Given the description of an element on the screen output the (x, y) to click on. 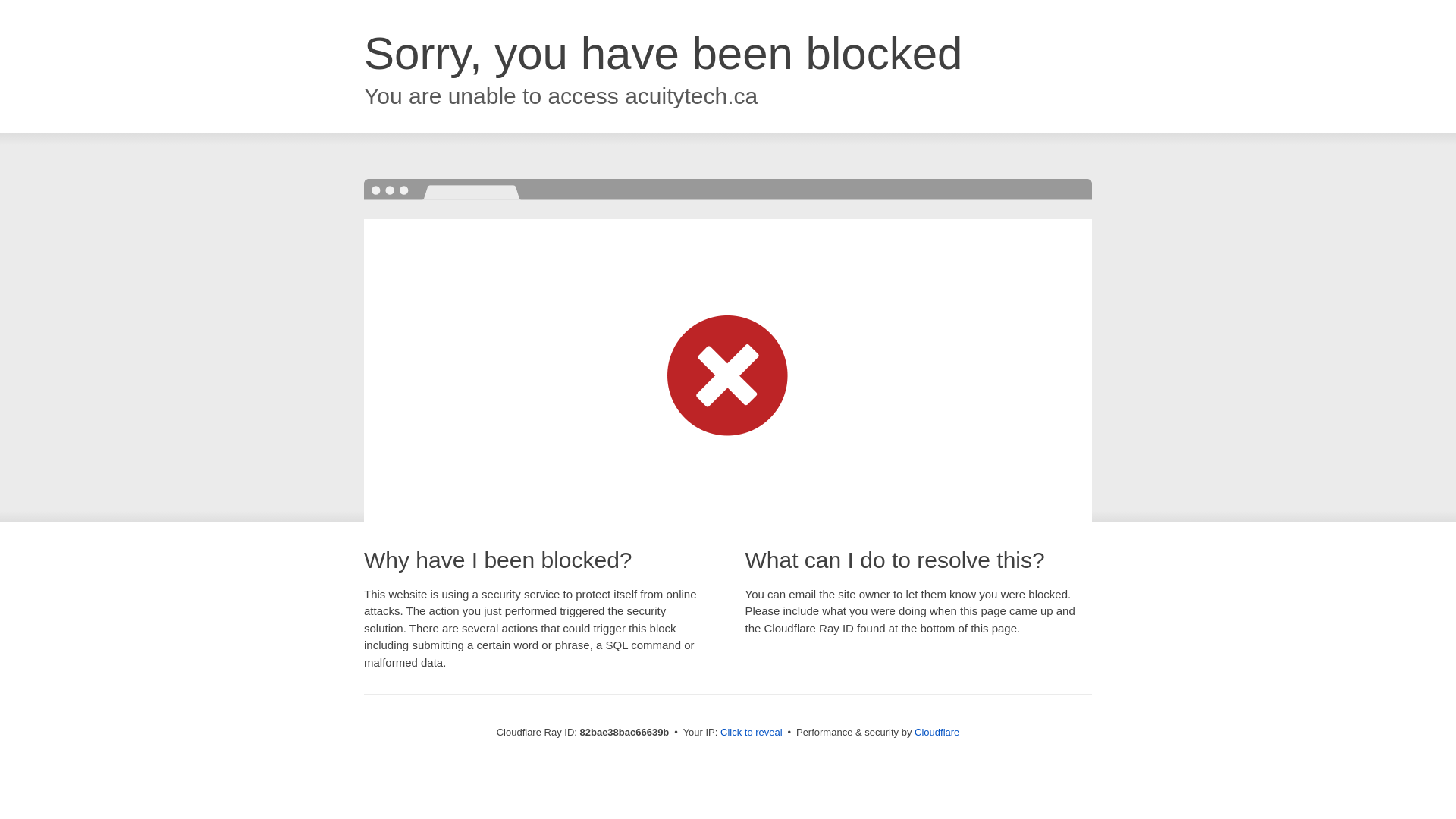
Cloudflare Element type: text (936, 731)
Click to reveal Element type: text (751, 732)
